Given the description of an element on the screen output the (x, y) to click on. 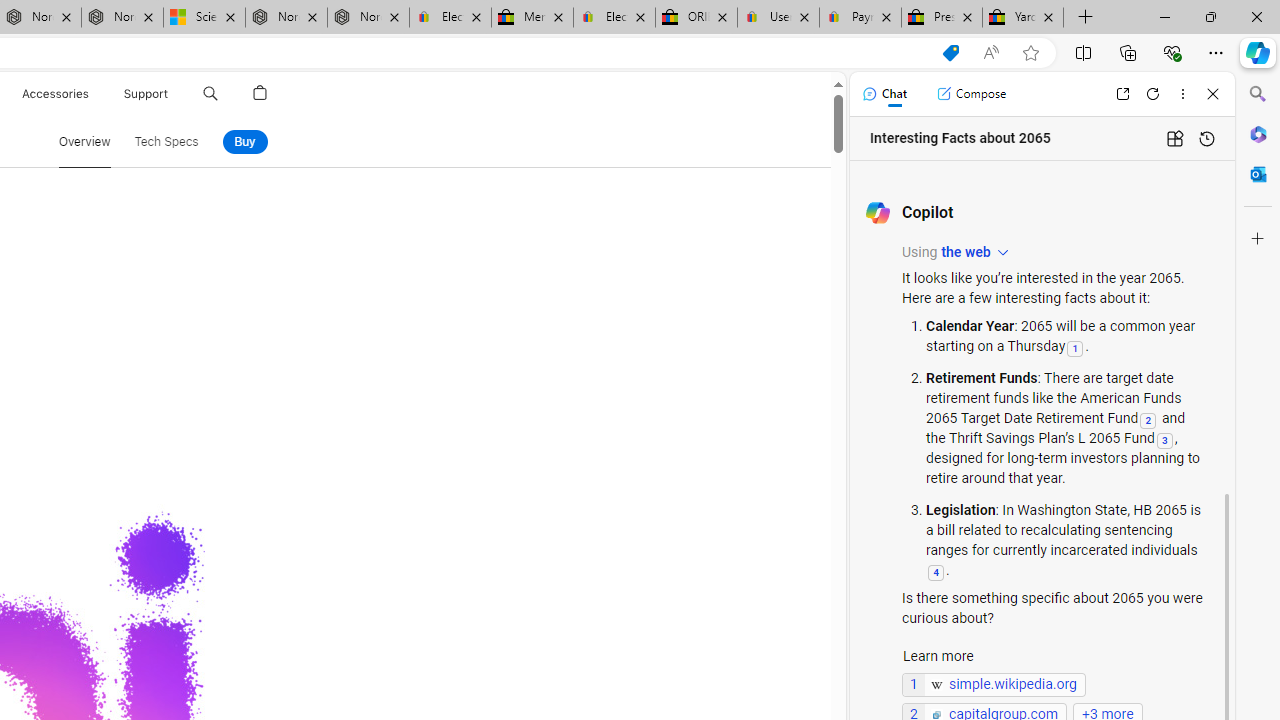
Accessories (54, 93)
Support (146, 93)
Shopping Bag (260, 93)
Support menu (172, 93)
Nordace - FAQ (368, 17)
Tech Specs (166, 141)
Class: globalnav-item globalnav-search shift-0-1 (210, 93)
Class: globalnav-submenu-trigger-item (172, 93)
